Given the description of an element on the screen output the (x, y) to click on. 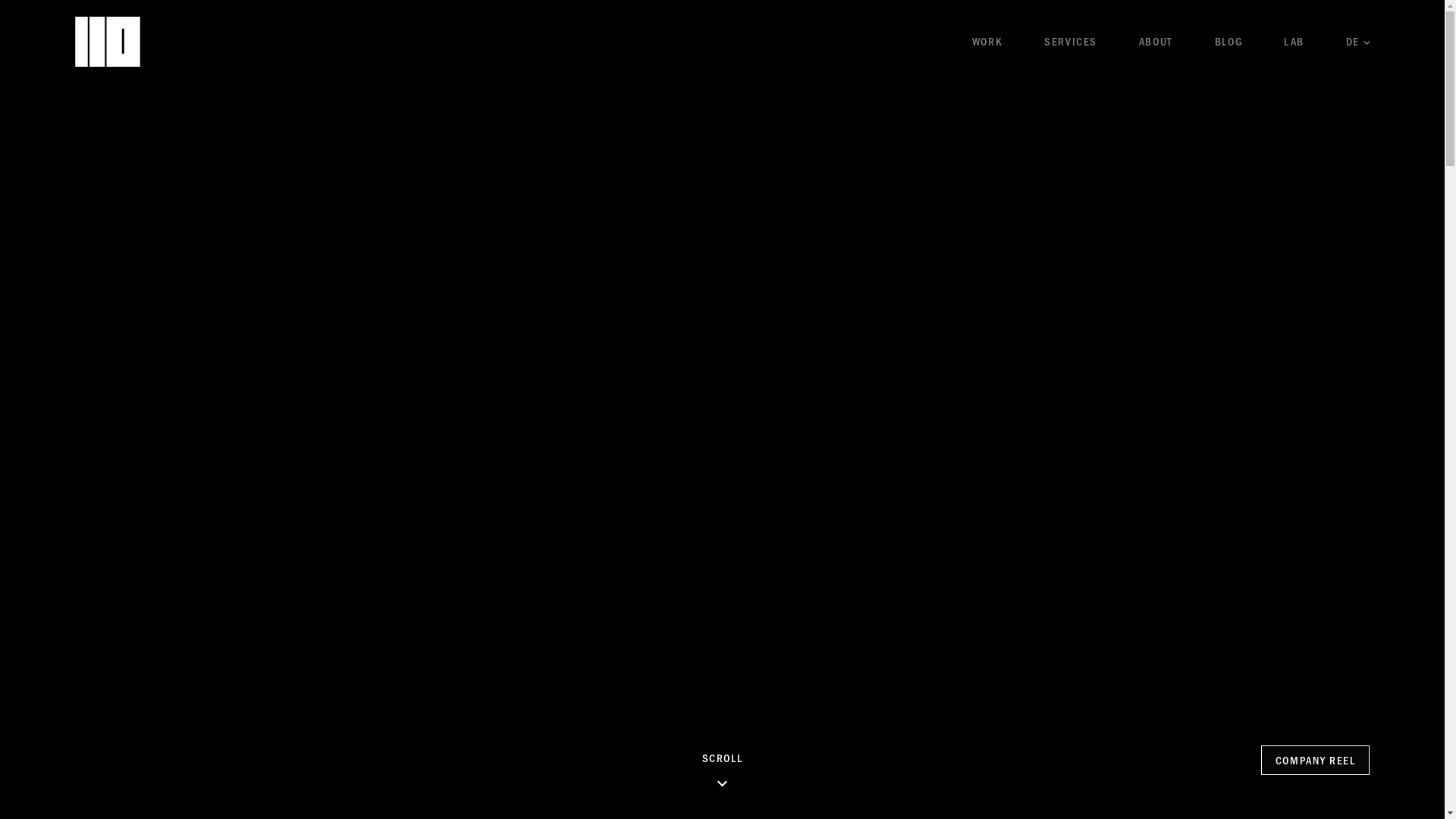
BLOG Element type: text (1228, 40)
Placeholder Logo ahundredandten Element type: text (106, 39)
COMPANY REEL Element type: text (1315, 760)
DE Element type: text (1358, 40)
LAB Element type: text (1293, 40)
WORK Element type: text (987, 40)
ABOUT Element type: text (1156, 40)
SERVICES Element type: text (1070, 40)
SCROLL Element type: text (722, 770)
